Given the description of an element on the screen output the (x, y) to click on. 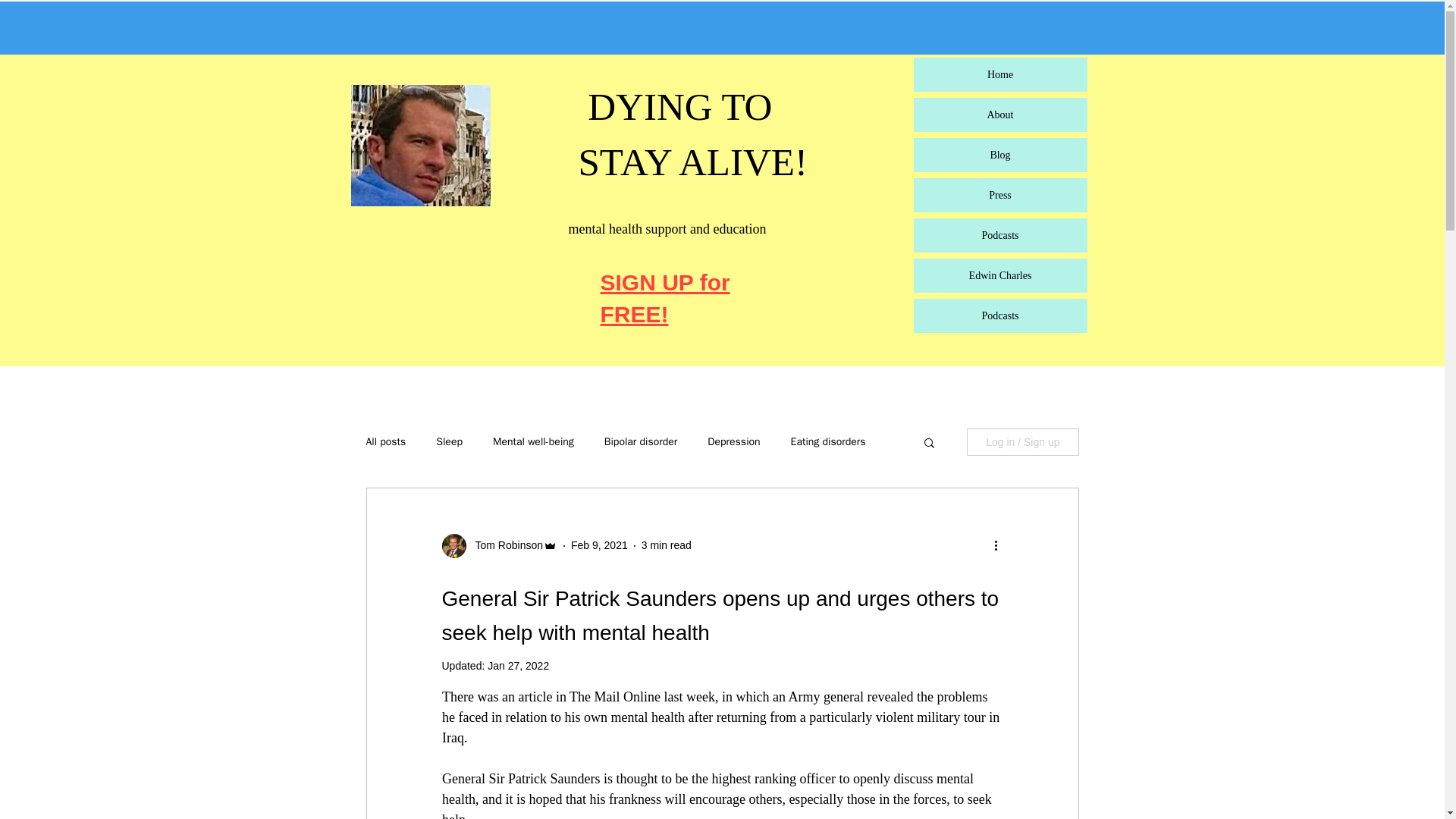
All posts (385, 441)
Feb 9, 2021 (598, 544)
About (999, 114)
Sleep (449, 441)
Eating disorders (828, 441)
Edwin Charles (999, 275)
Blog (999, 154)
Podcasts (999, 235)
STAY  (628, 161)
Tom Robinson (504, 545)
